Given the description of an element on the screen output the (x, y) to click on. 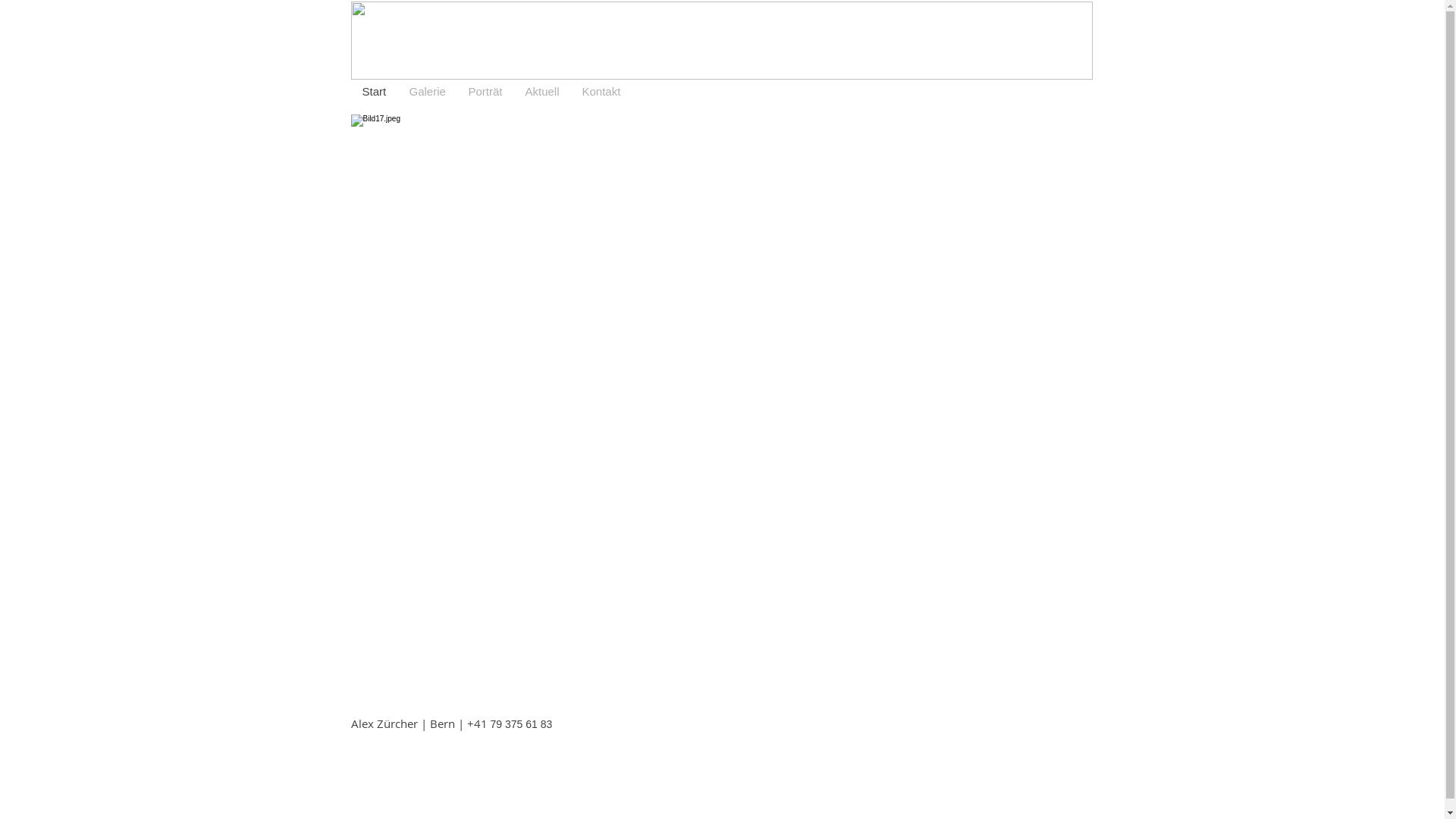
Galerie Element type: text (426, 91)
Aktuell Element type: text (542, 91)
Start Element type: text (373, 91)
Kontakt Element type: text (600, 91)
